Given the description of an element on the screen output the (x, y) to click on. 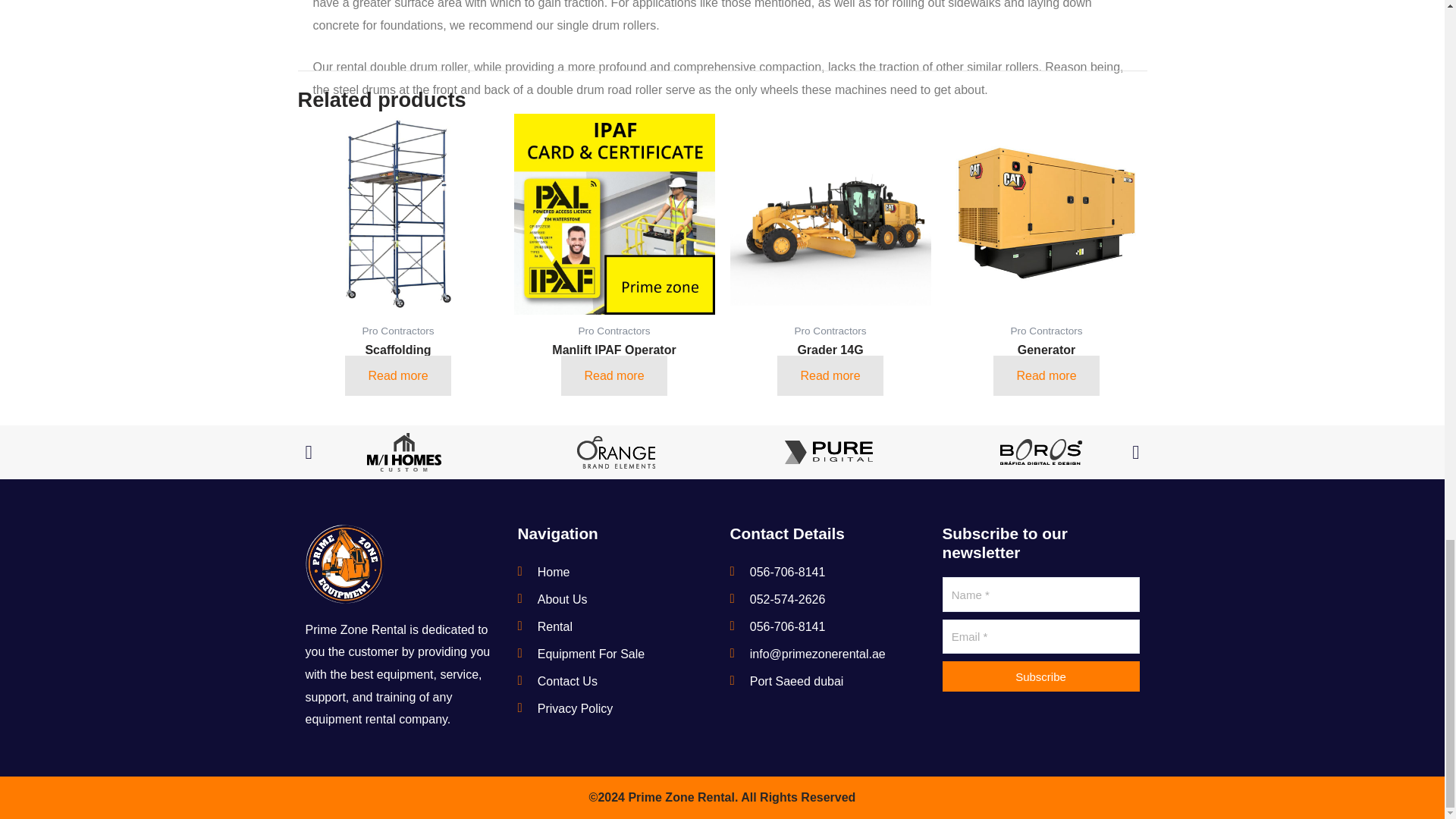
Read more (613, 375)
Grader 14G (829, 362)
Read more (1045, 375)
Generator (1046, 362)
Read more (829, 375)
Manlift IPAF Operator (613, 362)
Read more (397, 375)
Scaffolding (397, 362)
